Given the description of an element on the screen output the (x, y) to click on. 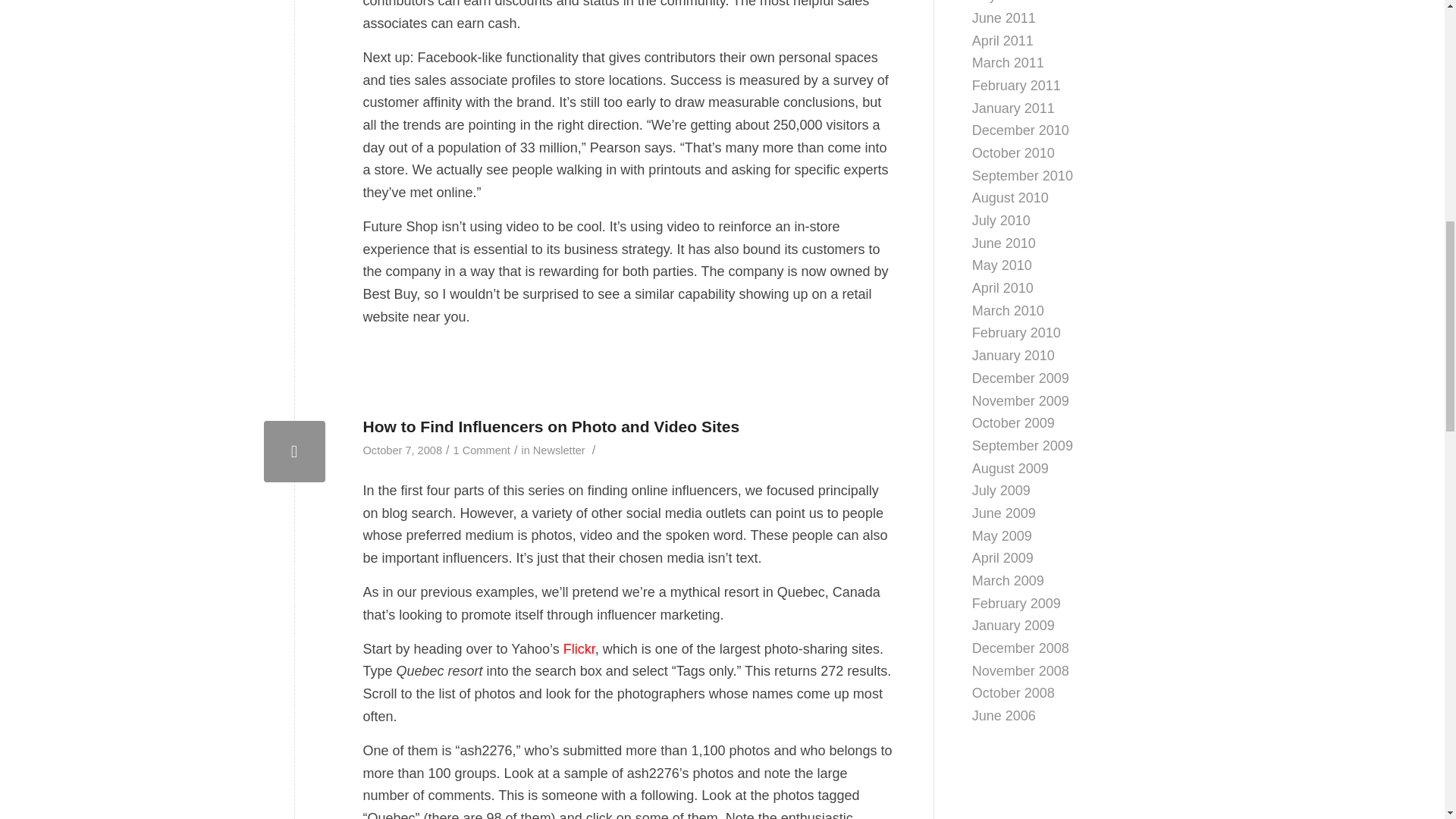
Newsletter (558, 450)
Flickr (579, 648)
1 Comment (481, 450)
How to Find Influencers on Photo and Video Sites (550, 425)
How to Find Influencers on Photo and Video Sites (293, 451)
